Given the description of an element on the screen output the (x, y) to click on. 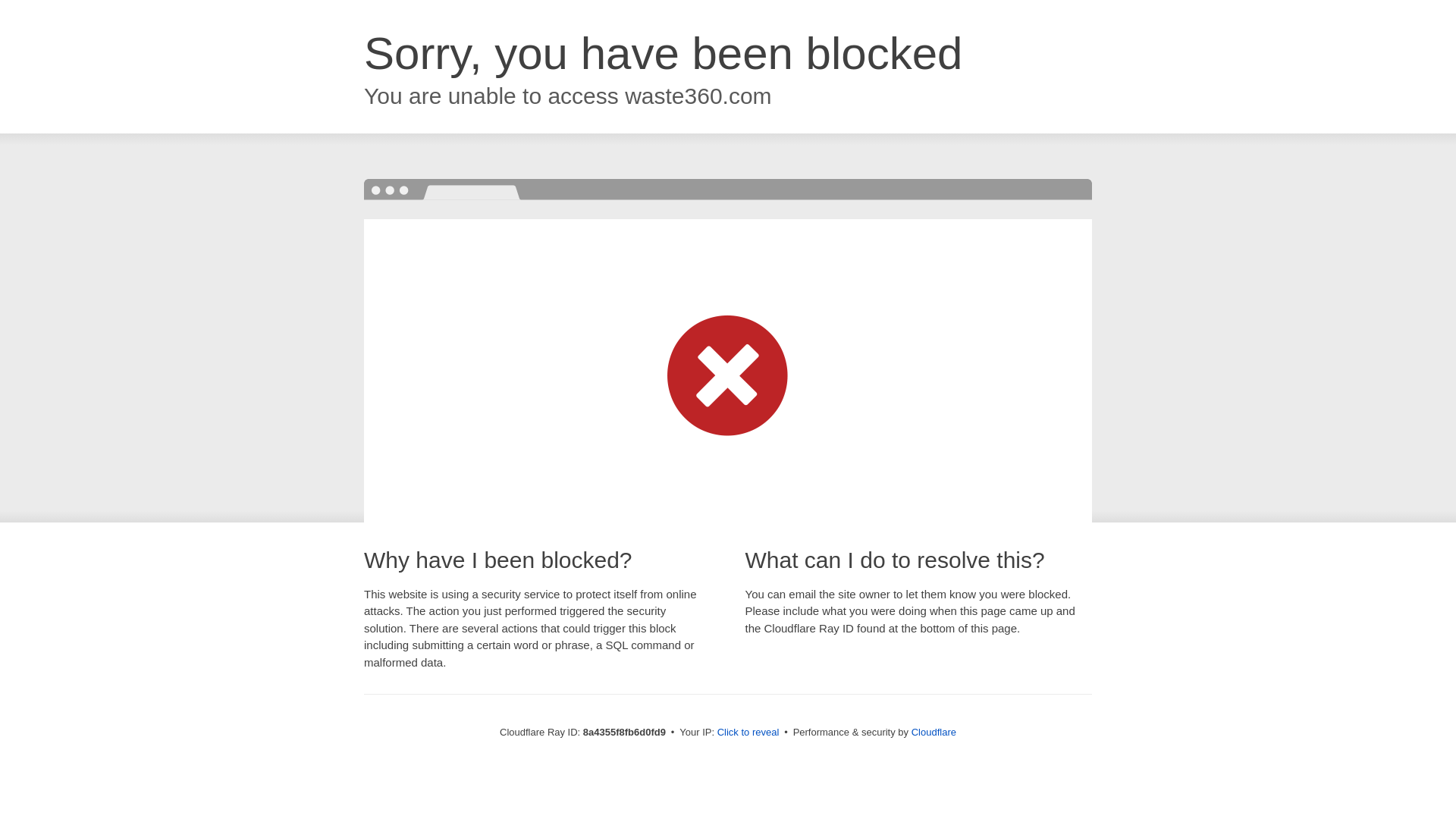
Click to reveal (747, 732)
Cloudflare (933, 731)
